Given the description of an element on the screen output the (x, y) to click on. 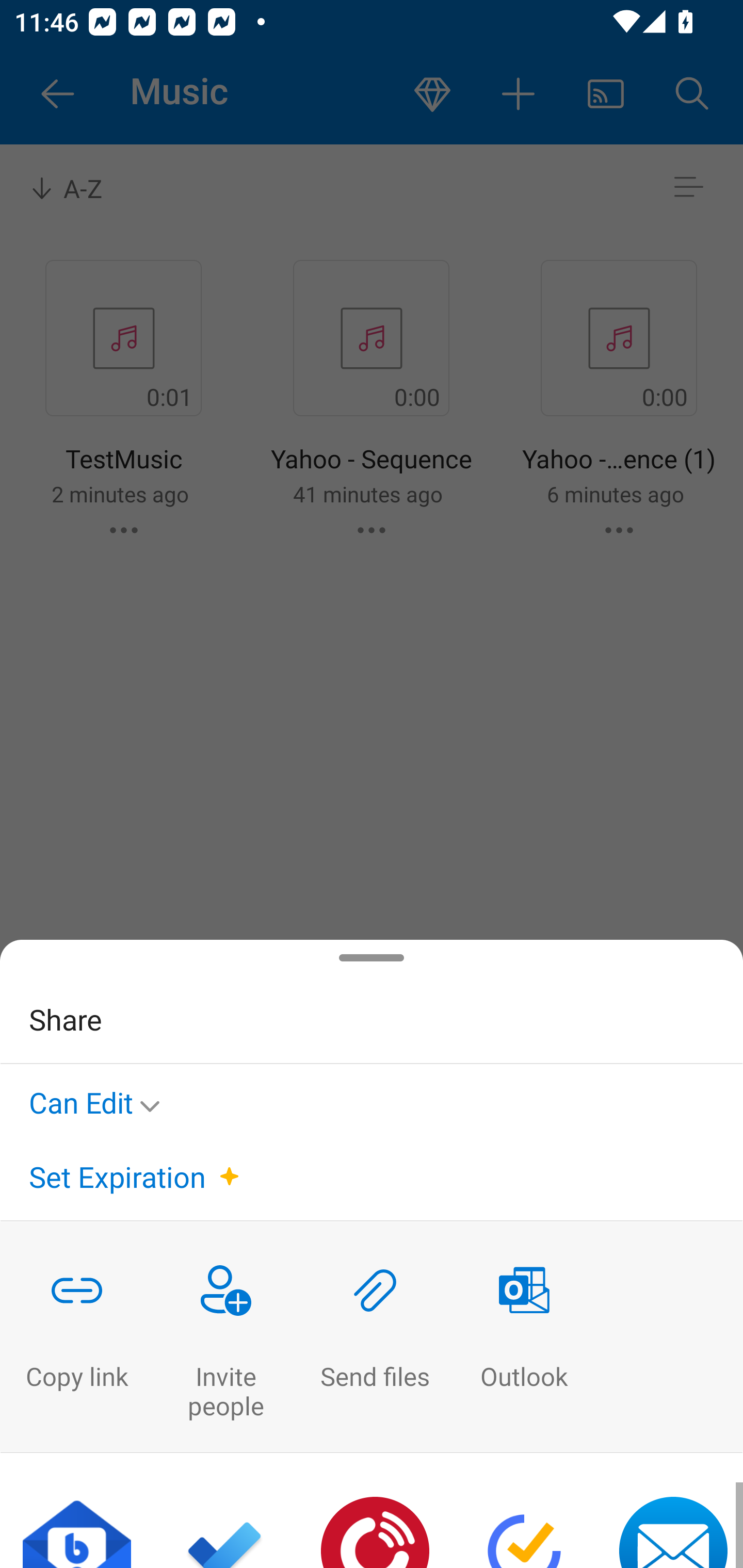
Can Edit (100, 1098)
Set Expiration (117, 1176)
Copy link (76, 1336)
Invite people (225, 1336)
Send files (374, 1336)
Outlook (523, 1336)
